Given the description of an element on the screen output the (x, y) to click on. 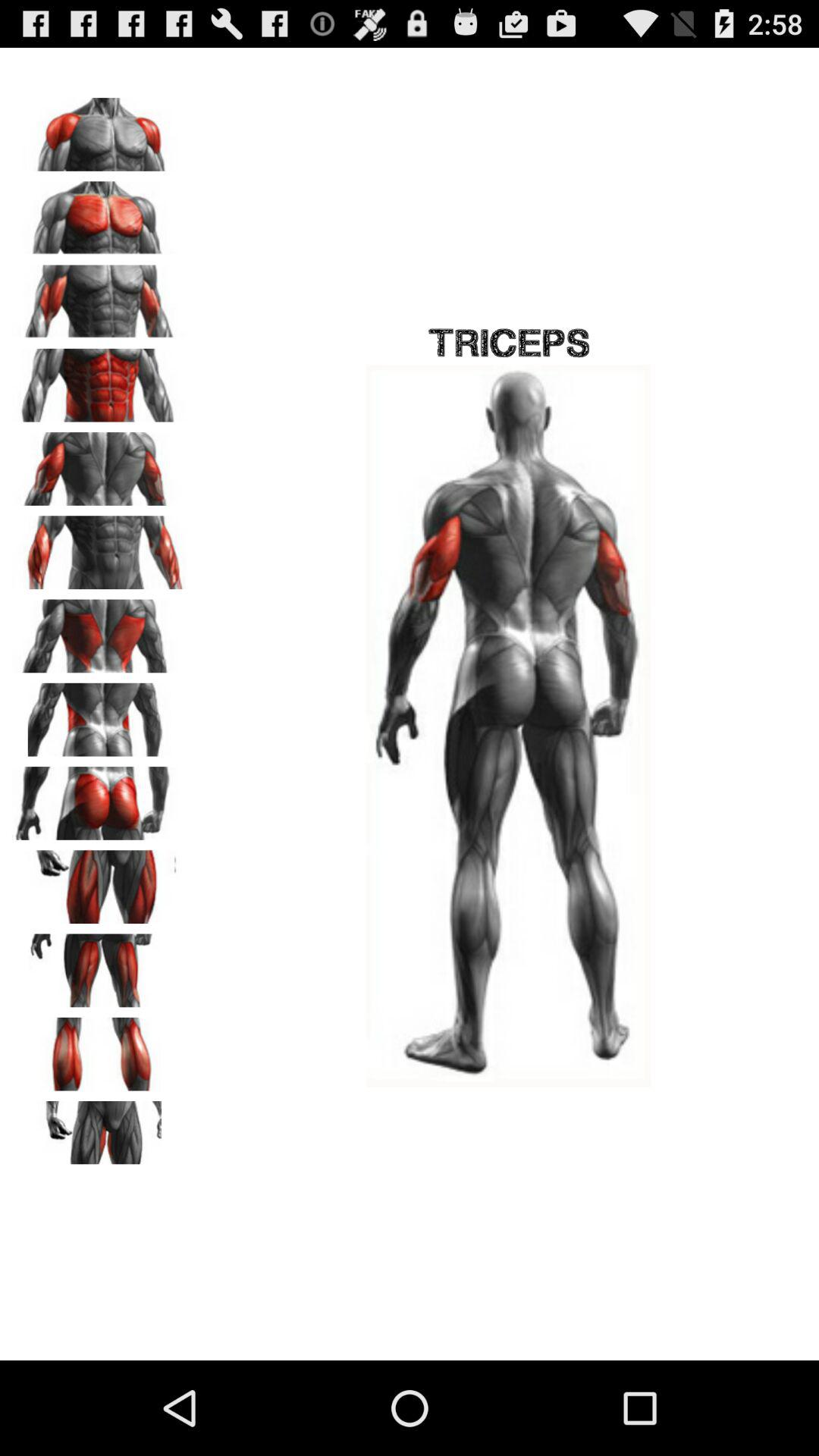
select muscle option (99, 463)
